Given the description of an element on the screen output the (x, y) to click on. 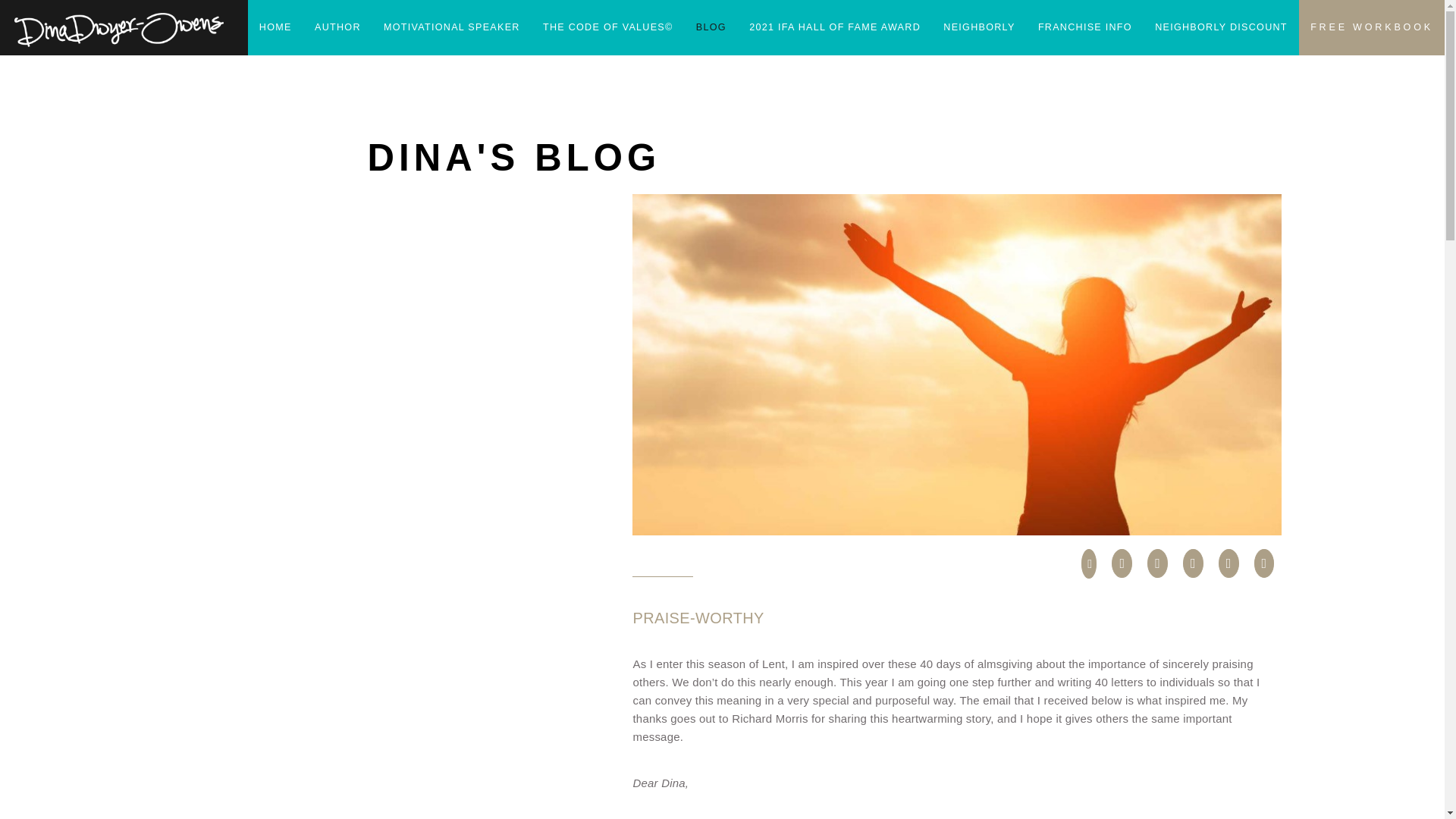
Dina Dwyer-Owens (119, 29)
BLOG (711, 27)
HOME (274, 27)
MOTIVATIONAL SPEAKER (451, 27)
AUTHOR (337, 27)
NEIGHBORLY DISCOUNT (1220, 27)
2021 IFA HALL OF FAME AWARD (834, 27)
FRANCHISE INFO (1084, 27)
NEIGHBORLY (978, 27)
